Given the description of an element on the screen output the (x, y) to click on. 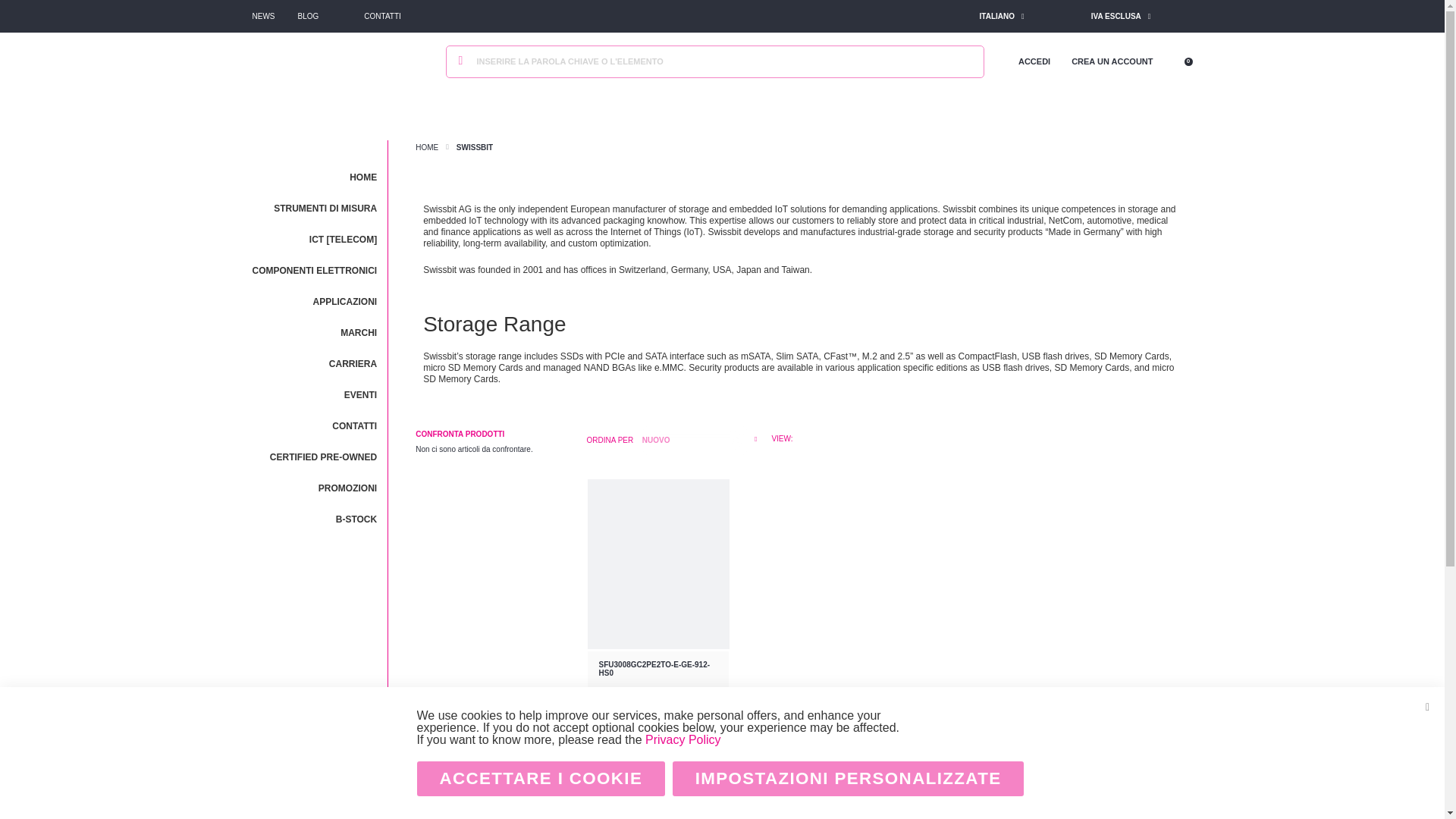
Privacy Policy (682, 739)
Lista (798, 437)
Search (460, 61)
BLOG (307, 16)
STRUMENTI DI MISURA (314, 207)
NEWS (263, 16)
ACCEDI (1033, 61)
CREA UN ACCOUNT (1112, 61)
Vai alla Home Page (426, 147)
